Given the description of an element on the screen output the (x, y) to click on. 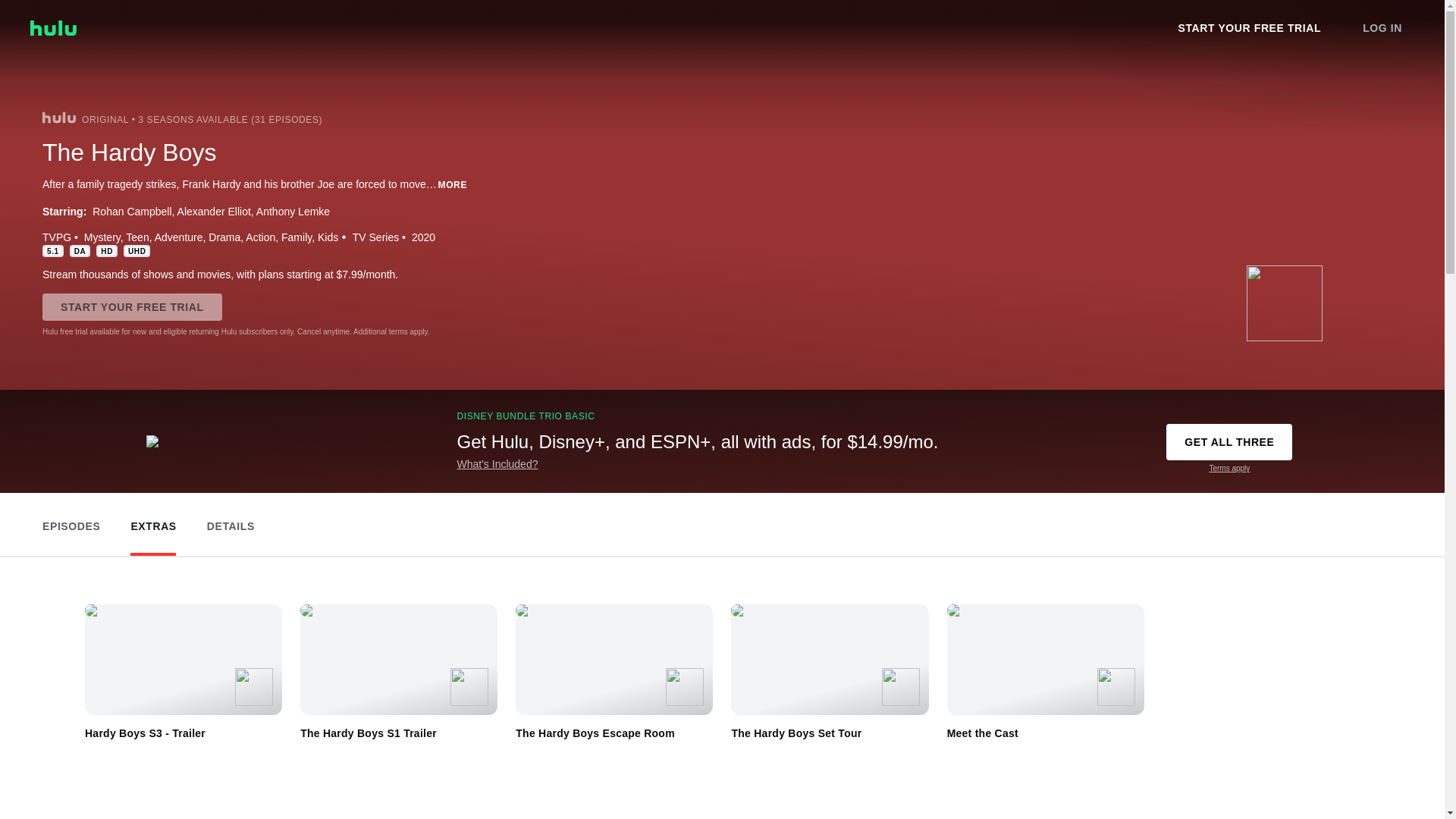
EPISODES (71, 522)
Action (260, 236)
What's Included? (497, 463)
TV Series (375, 236)
Kids (327, 236)
hulu (53, 27)
Adventure (178, 236)
hulu (58, 117)
GET ALL THREE (1229, 442)
MORE (452, 184)
EXTRAS (153, 522)
DETAILS (230, 522)
START YOUR FREE TRIAL (132, 307)
hulu (53, 27)
Terms apply (1228, 468)
